Given the description of an element on the screen output the (x, y) to click on. 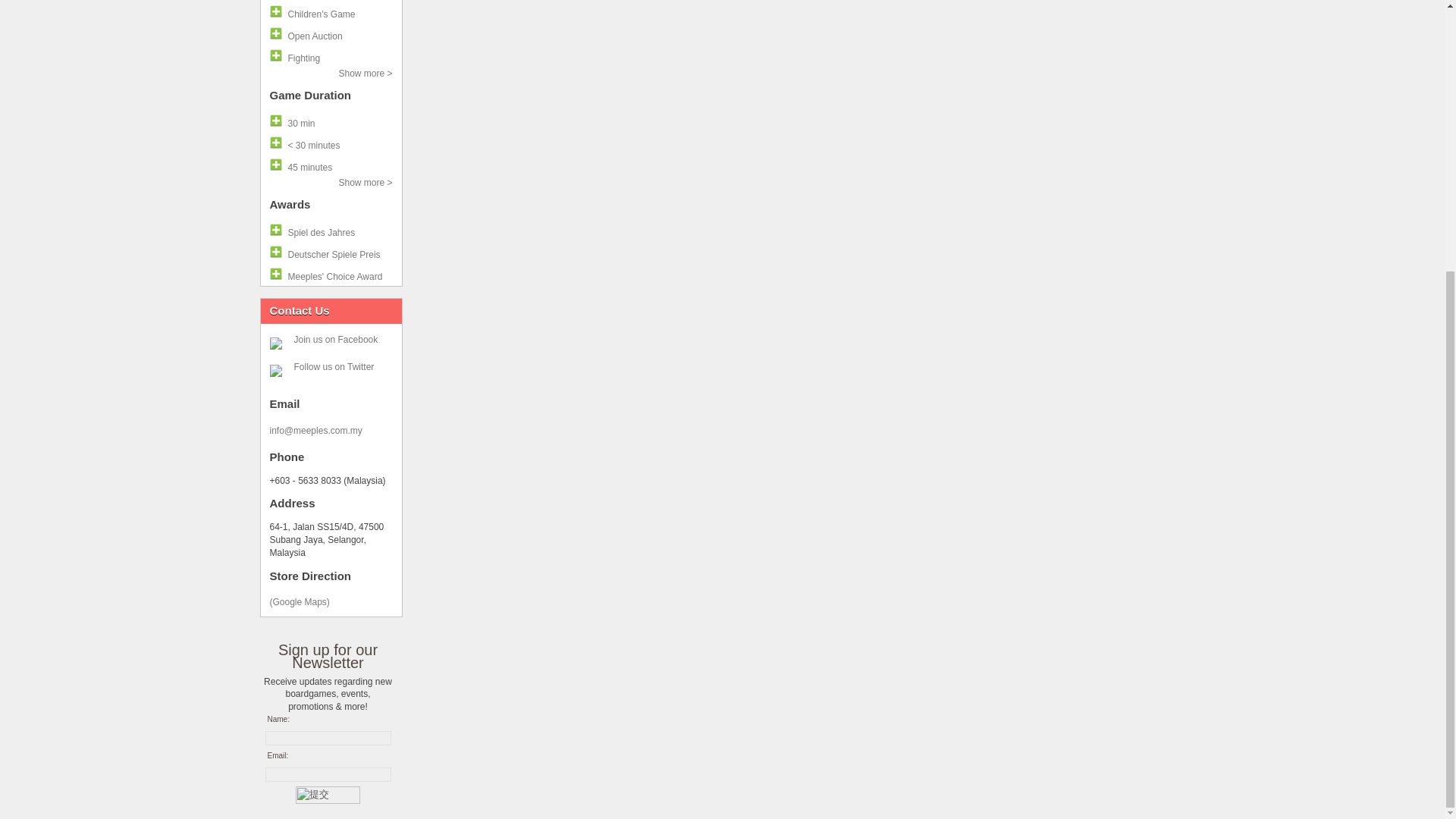
Open Auction (331, 33)
Children's Game (331, 11)
Fighting (331, 55)
